Given the description of an element on the screen output the (x, y) to click on. 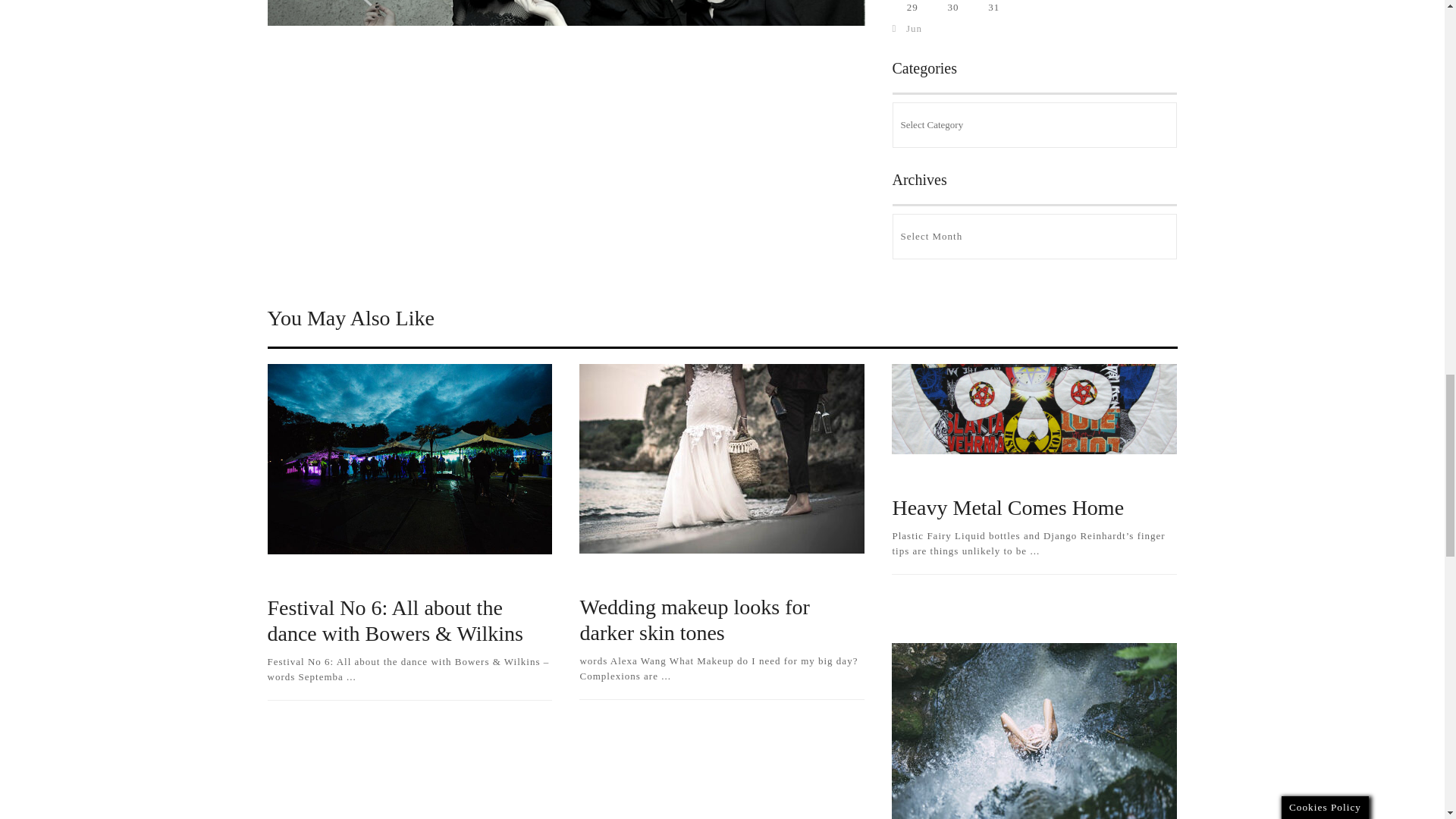
View all posts in 50 (915, 477)
View all posts in 6 (285, 577)
View all posts in 1572 (349, 577)
View all posts in 7 (601, 576)
View all posts in 1600 (673, 576)
View all posts in 6 (962, 477)
